Given the description of an element on the screen output the (x, y) to click on. 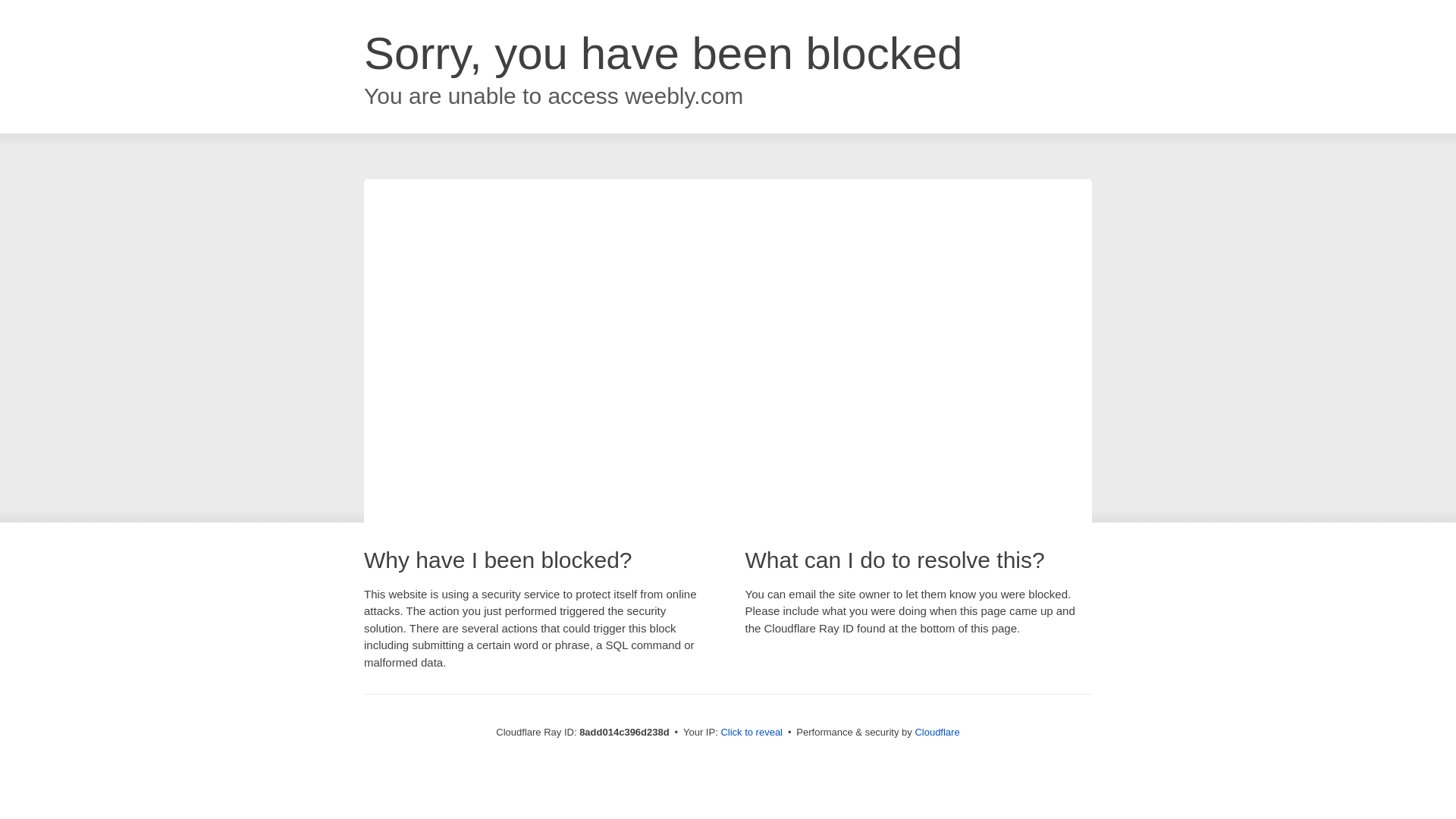
Click to reveal (751, 732)
Cloudflare (936, 731)
